Given the description of an element on the screen output the (x, y) to click on. 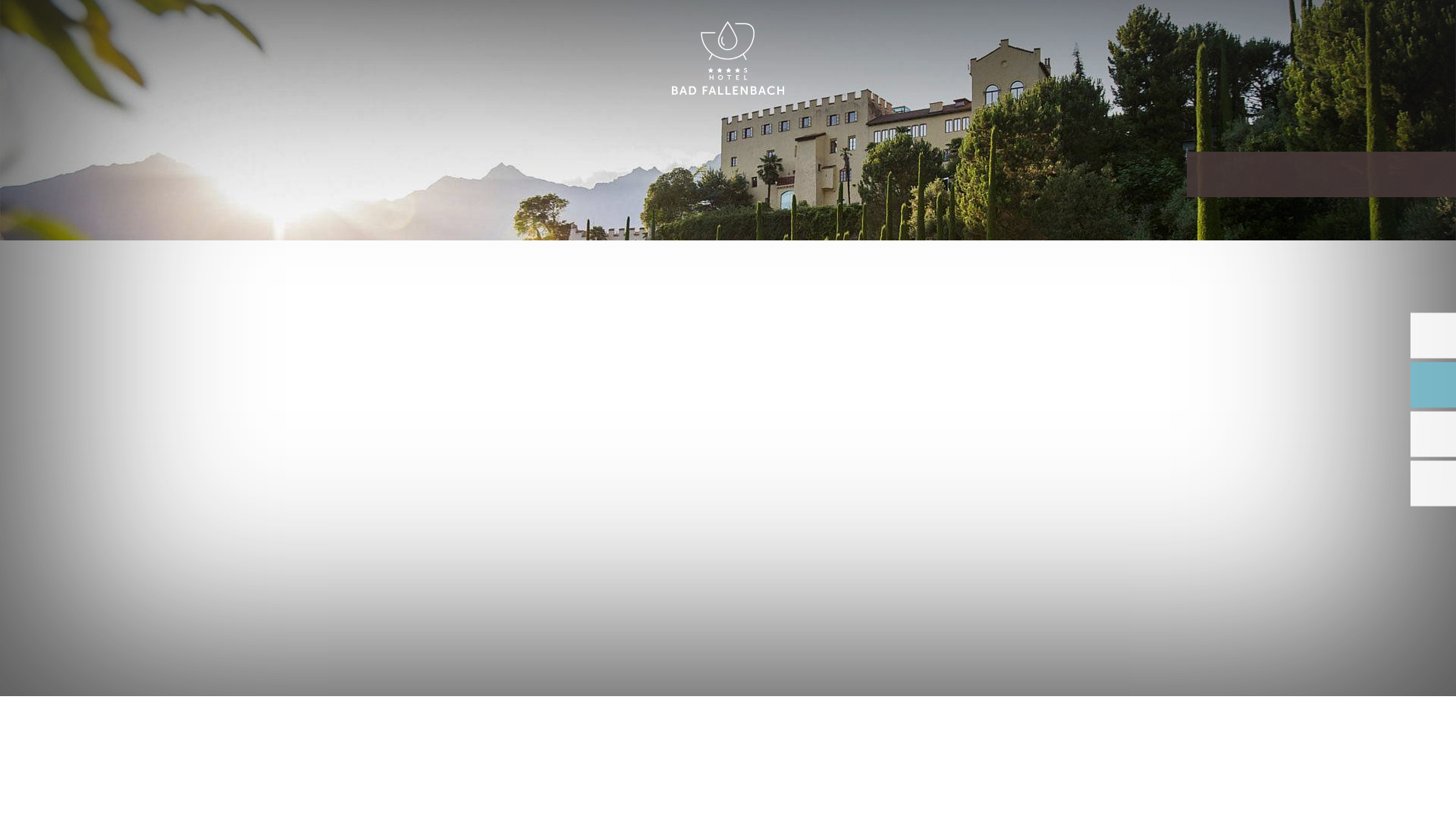
HOTEL BAD FALLENBACH (727, 59)
ENGLISH (1291, 29)
